Given the description of an element on the screen output the (x, y) to click on. 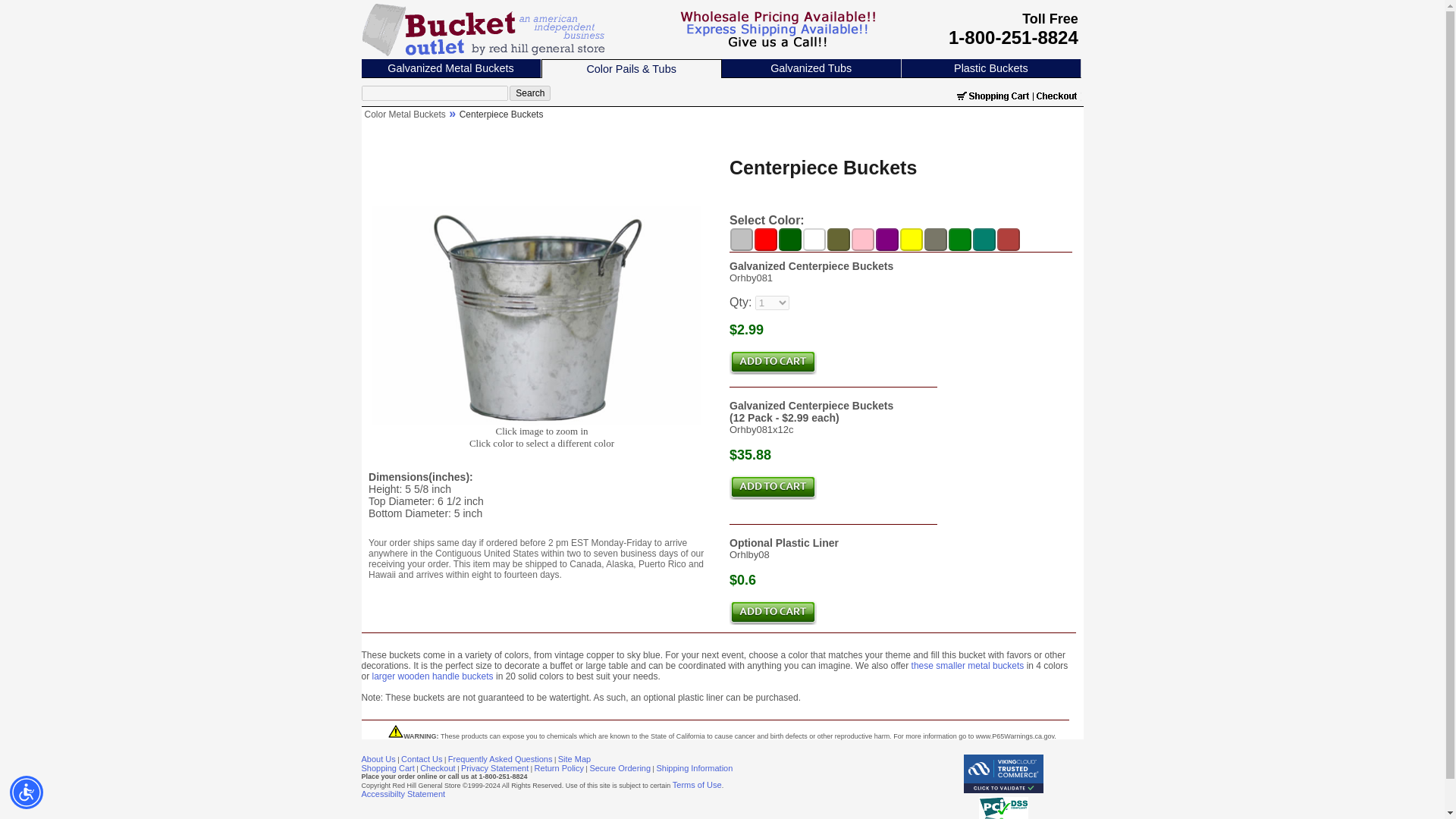
Plastic Buckets (990, 68)
Accessibility Menu (26, 792)
Search (529, 92)
Galvanized Metal Buckets (450, 68)
Galvanized Tubs (810, 68)
Search (529, 92)
